Given the description of an element on the screen output the (x, y) to click on. 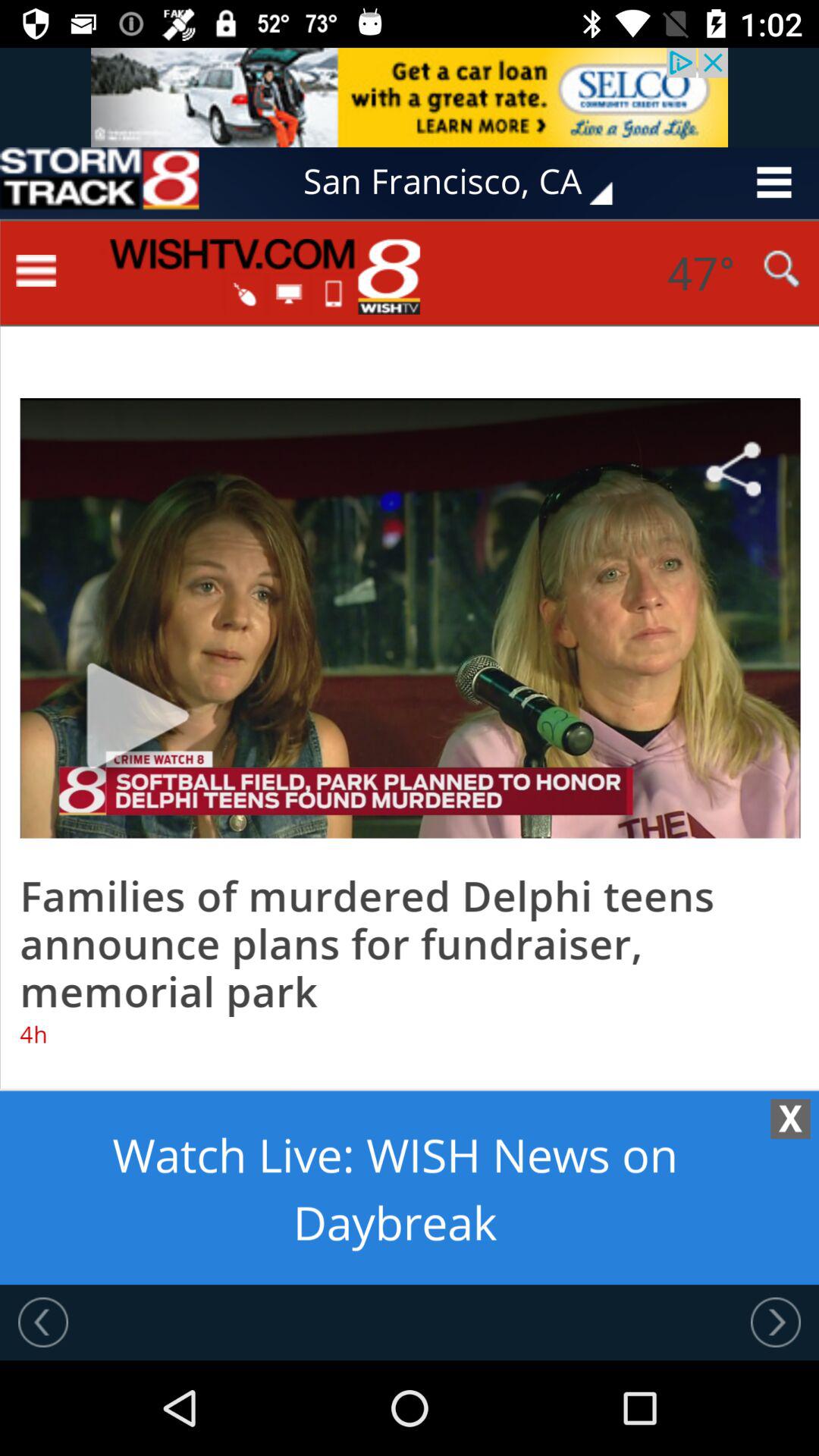
choose the selection box (99, 182)
